Given the description of an element on the screen output the (x, y) to click on. 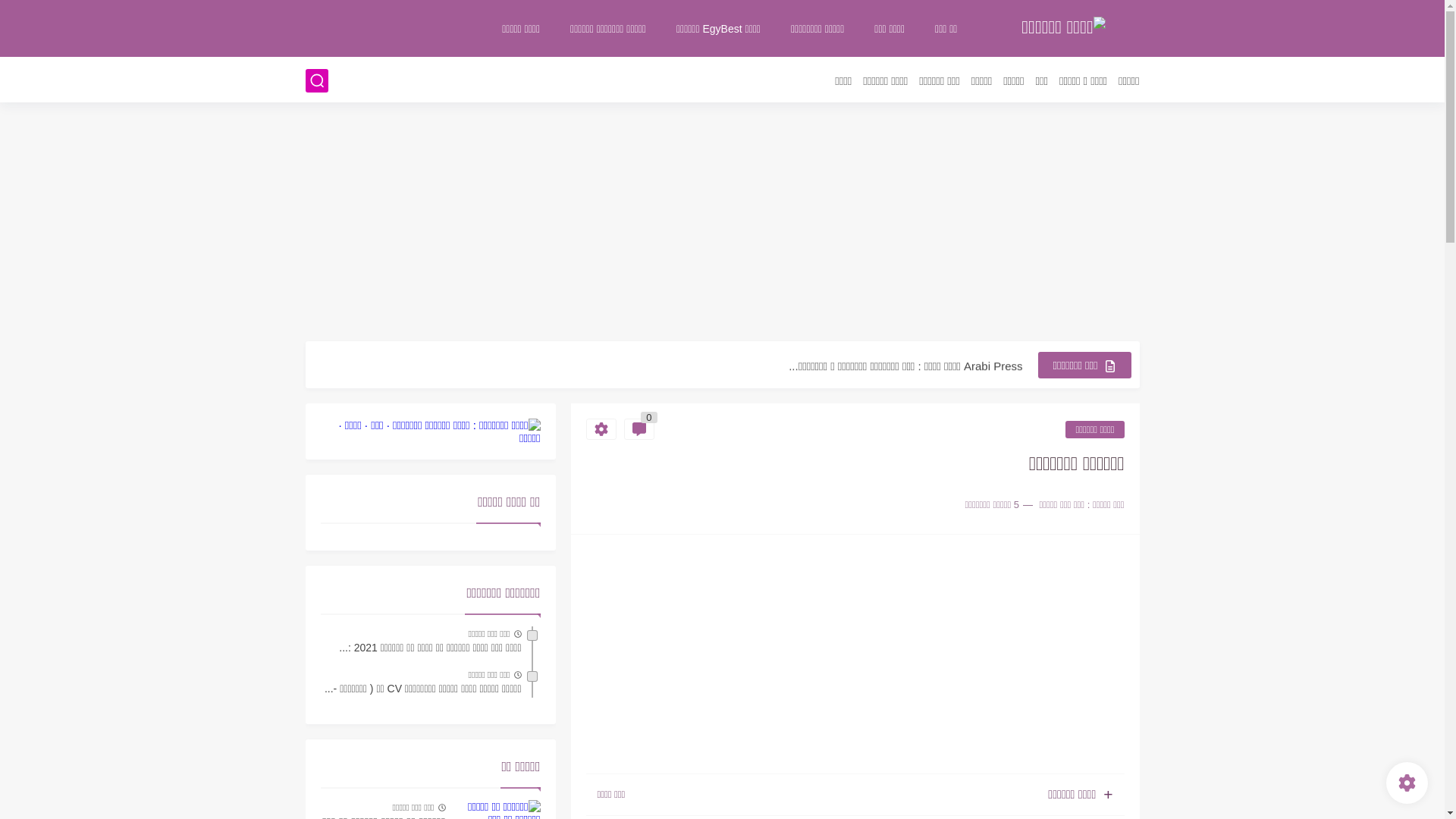
Advertisement Element type: hover (854, 655)
0 Element type: text (638, 428)
Advertisement Element type: hover (721, 223)
